Given the description of an element on the screen output the (x, y) to click on. 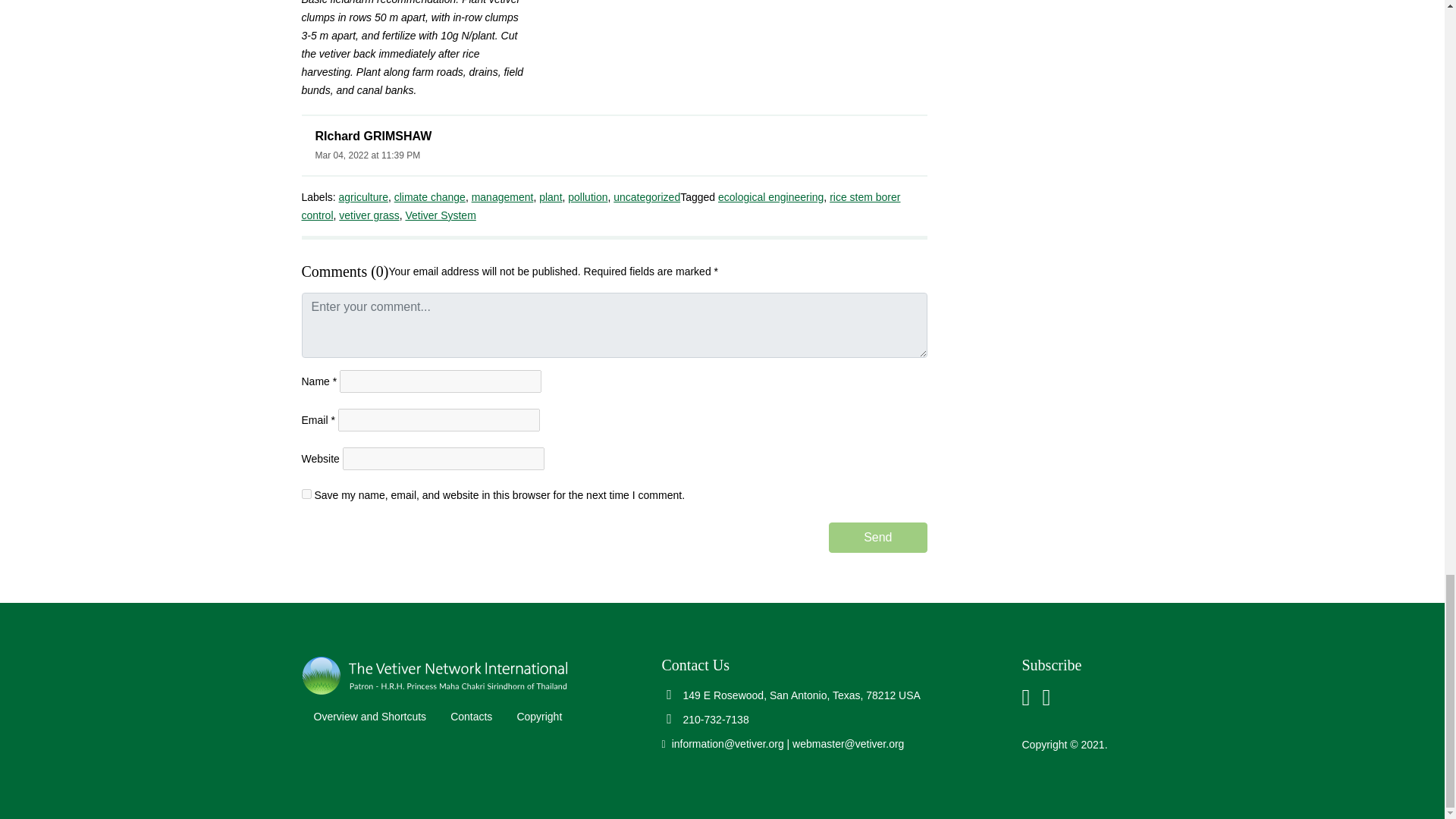
Contacts (470, 716)
Send (877, 537)
yes (306, 493)
Overview and Shortcuts (370, 716)
Copyright (538, 716)
